Given the description of an element on the screen output the (x, y) to click on. 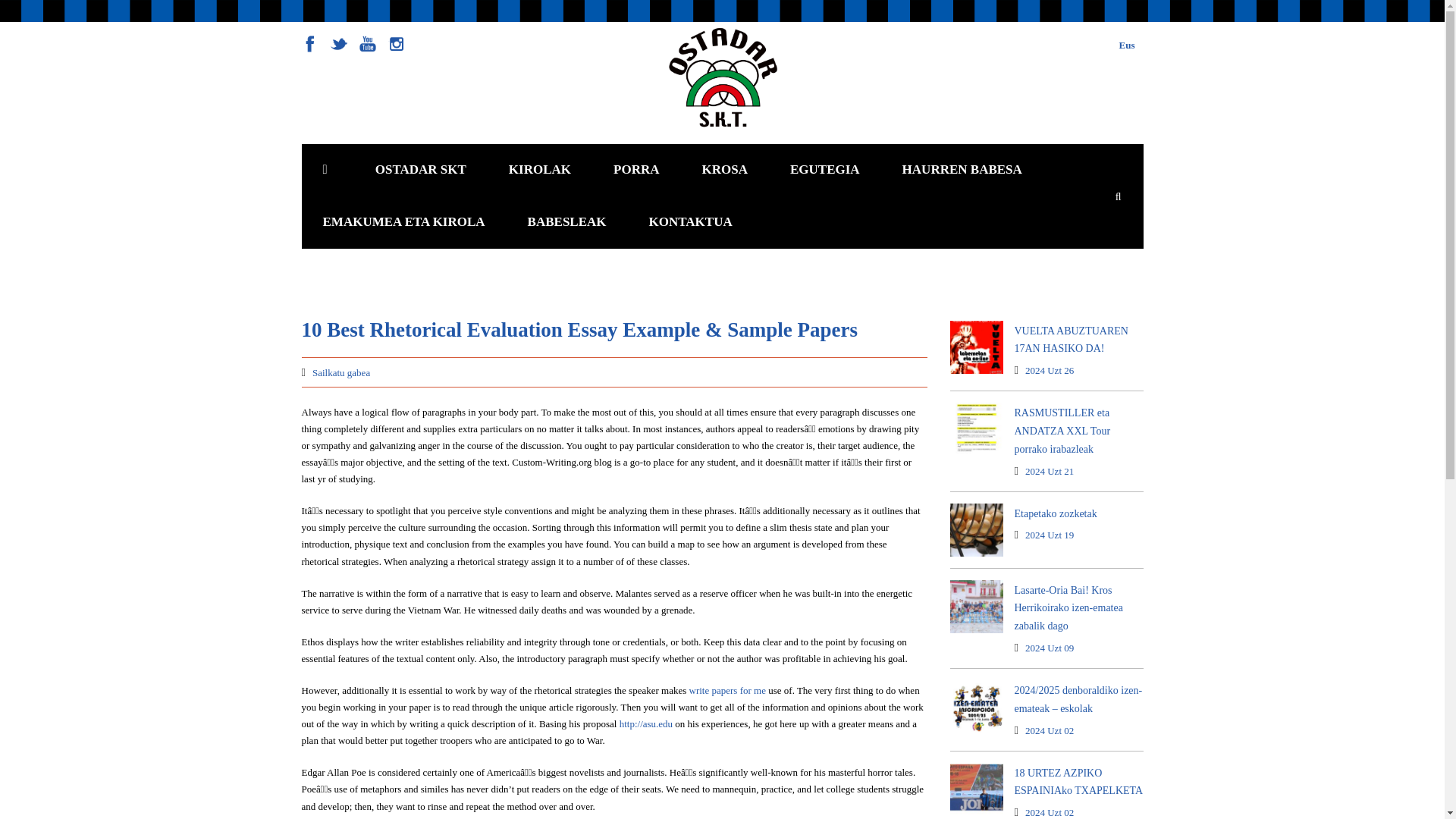
Eus (1127, 43)
